Given the description of an element on the screen output the (x, y) to click on. 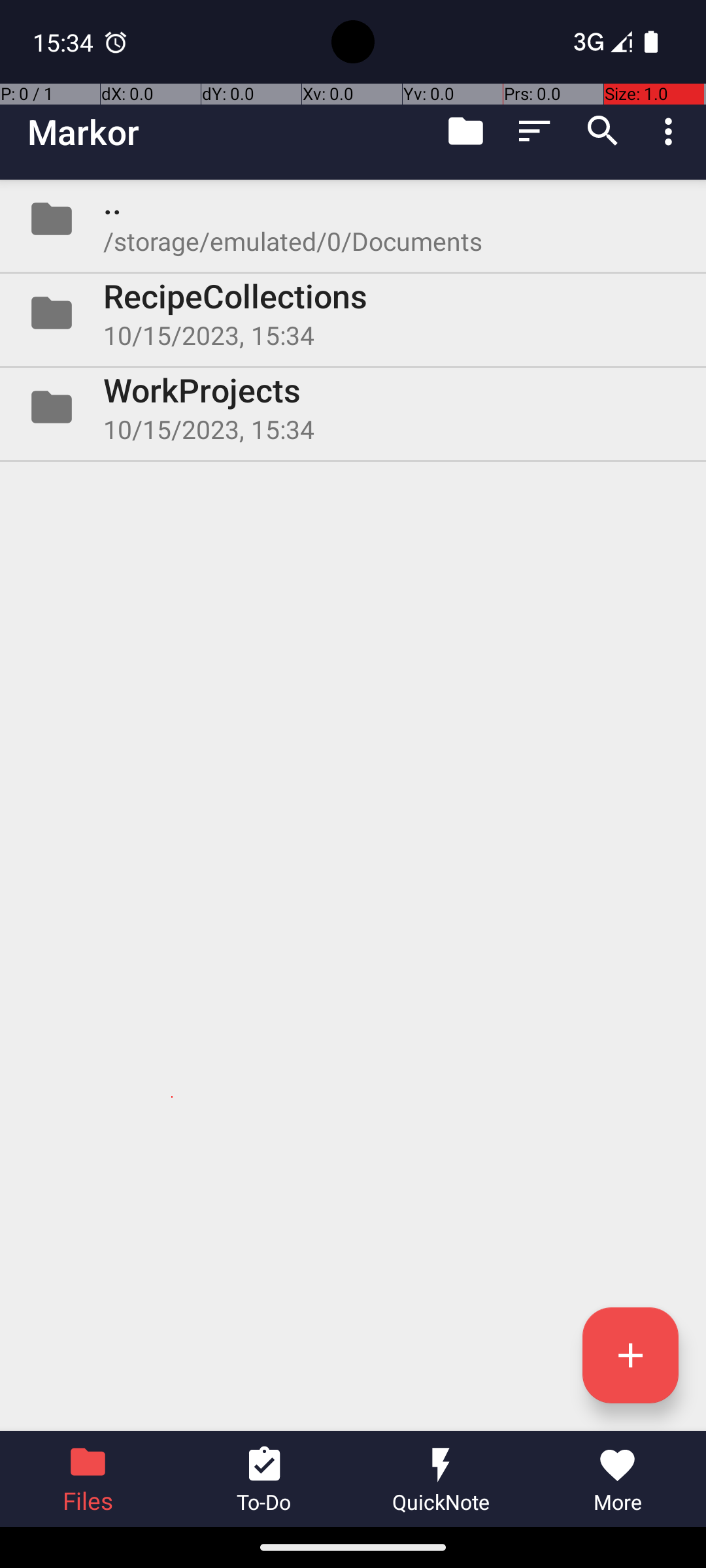
Folder RecipeCollections  Element type: android.widget.LinearLayout (353, 312)
Folder WorkProjects  Element type: android.widget.LinearLayout (353, 406)
